Given the description of an element on the screen output the (x, y) to click on. 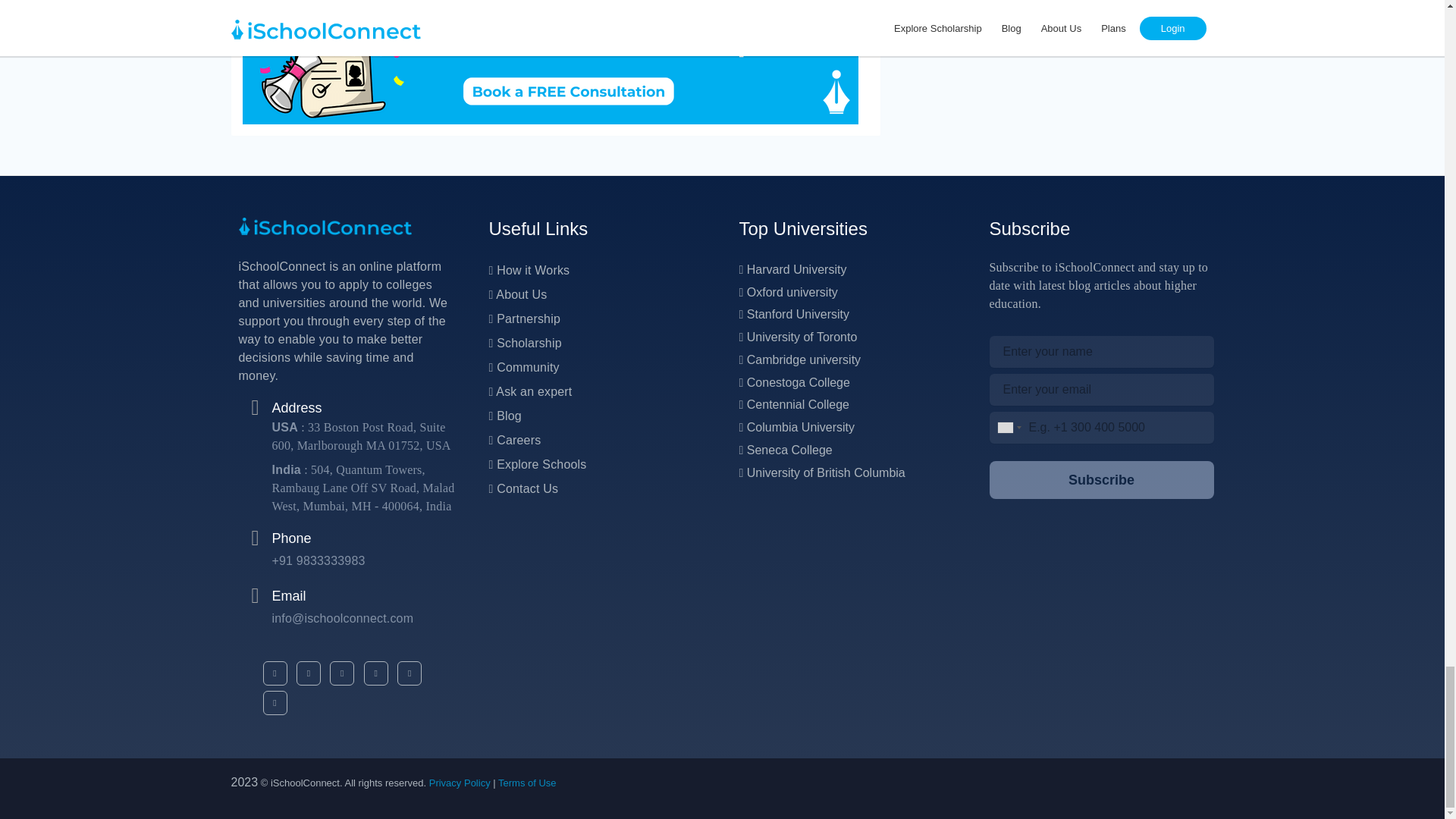
Blog (504, 415)
Scholarship (523, 342)
Harvard University (791, 269)
University of Toronto (797, 336)
Partnership (523, 318)
Contact Us (522, 488)
Explore Schools (536, 463)
Ask an expert (529, 391)
Stanford University (793, 314)
Cambridge university (799, 359)
